Given the description of an element on the screen output the (x, y) to click on. 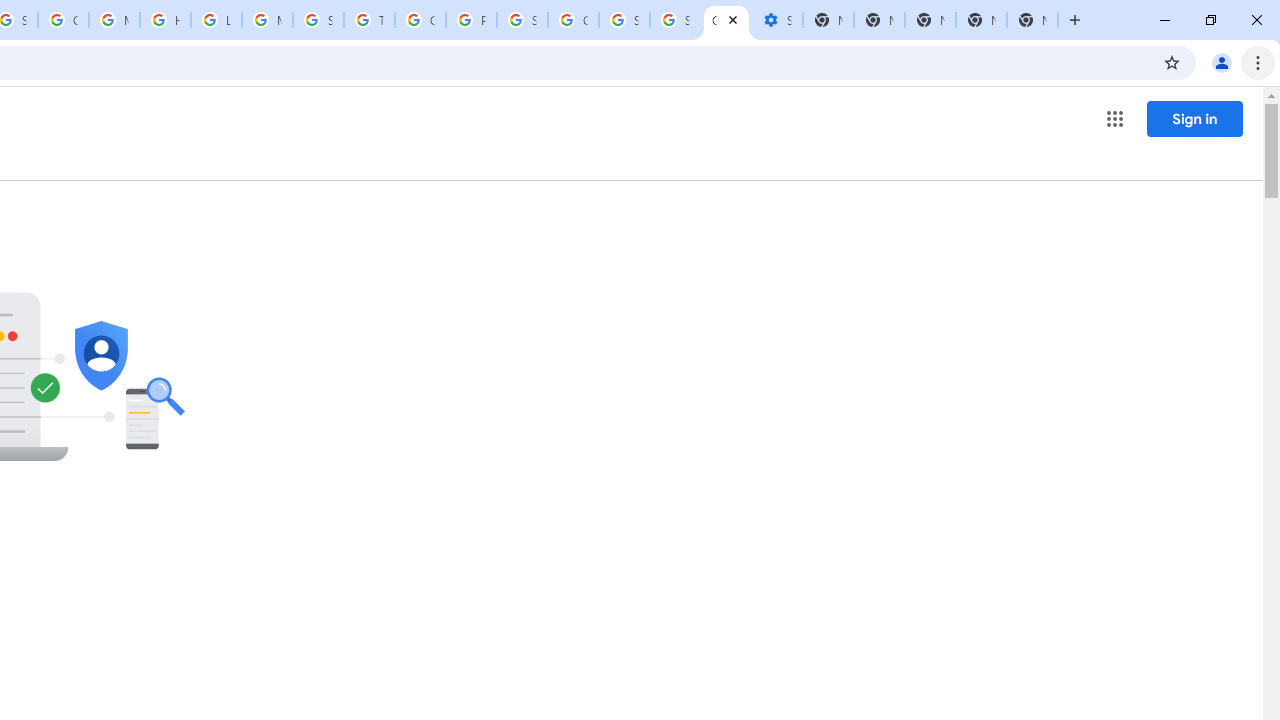
Google Cybersecurity Innovations - Google Safety Center (573, 20)
Google Ads - Sign in (420, 20)
Sign in - Google Accounts (521, 20)
New Tab (1032, 20)
